Given the description of an element on the screen output the (x, y) to click on. 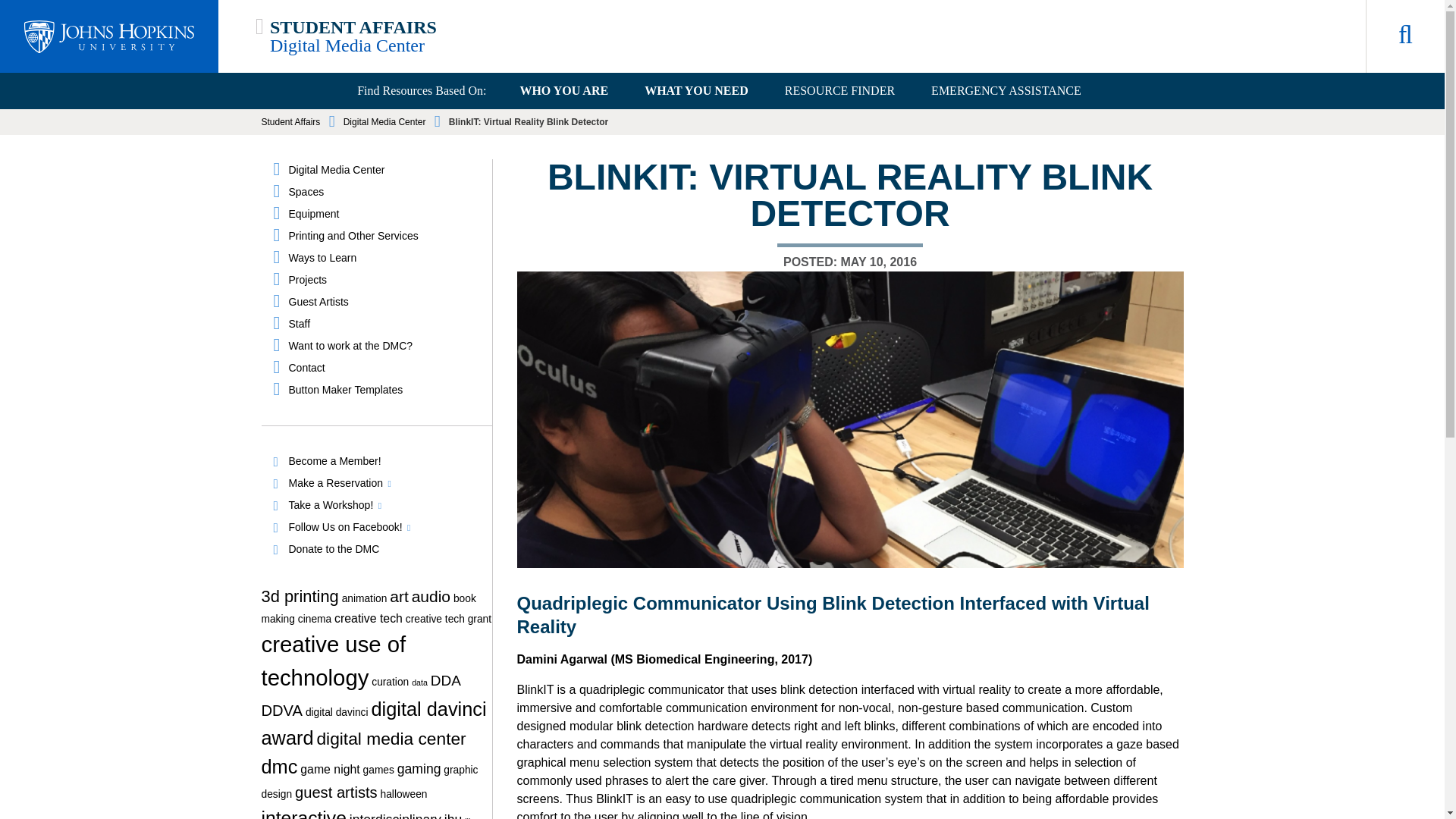
Digital Media Center (383, 170)
RESOURCE FINDER (839, 90)
Printing and Other Services (383, 236)
WHAT YOU NEED (696, 90)
EMERGENCY ASSISTANCE (1005, 90)
Student Affairs (290, 122)
STUDENT AFFAIRS (352, 26)
WHO YOU ARE (563, 90)
Equipment (383, 213)
Spaces (383, 191)
Digital Media Center (384, 122)
Digital Media Center (347, 45)
